Given the description of an element on the screen output the (x, y) to click on. 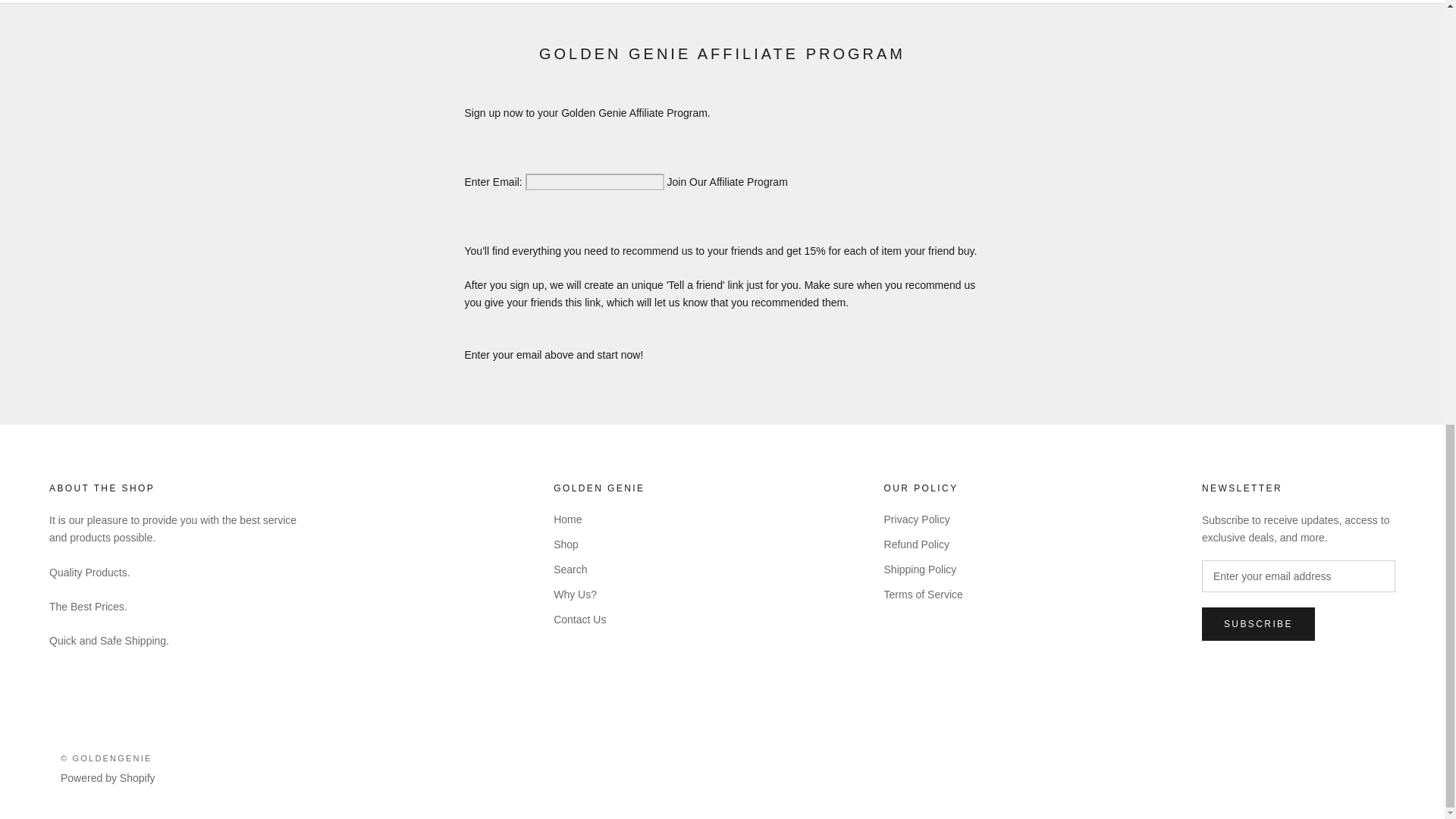
Join Our Affiliate Program (726, 182)
